Given the description of an element on the screen output the (x, y) to click on. 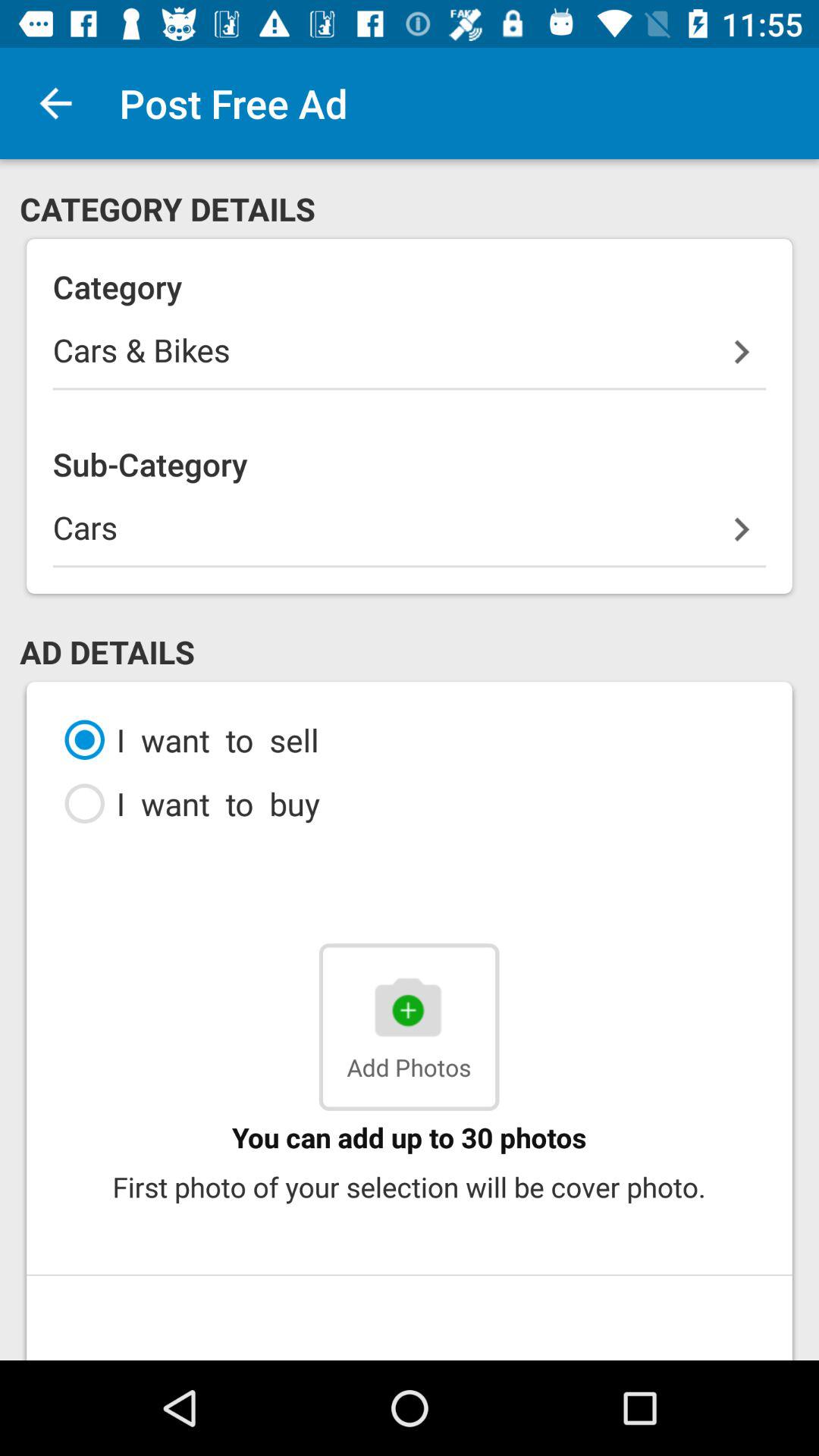
choose cars & bikes icon (409, 359)
